Given the description of an element on the screen output the (x, y) to click on. 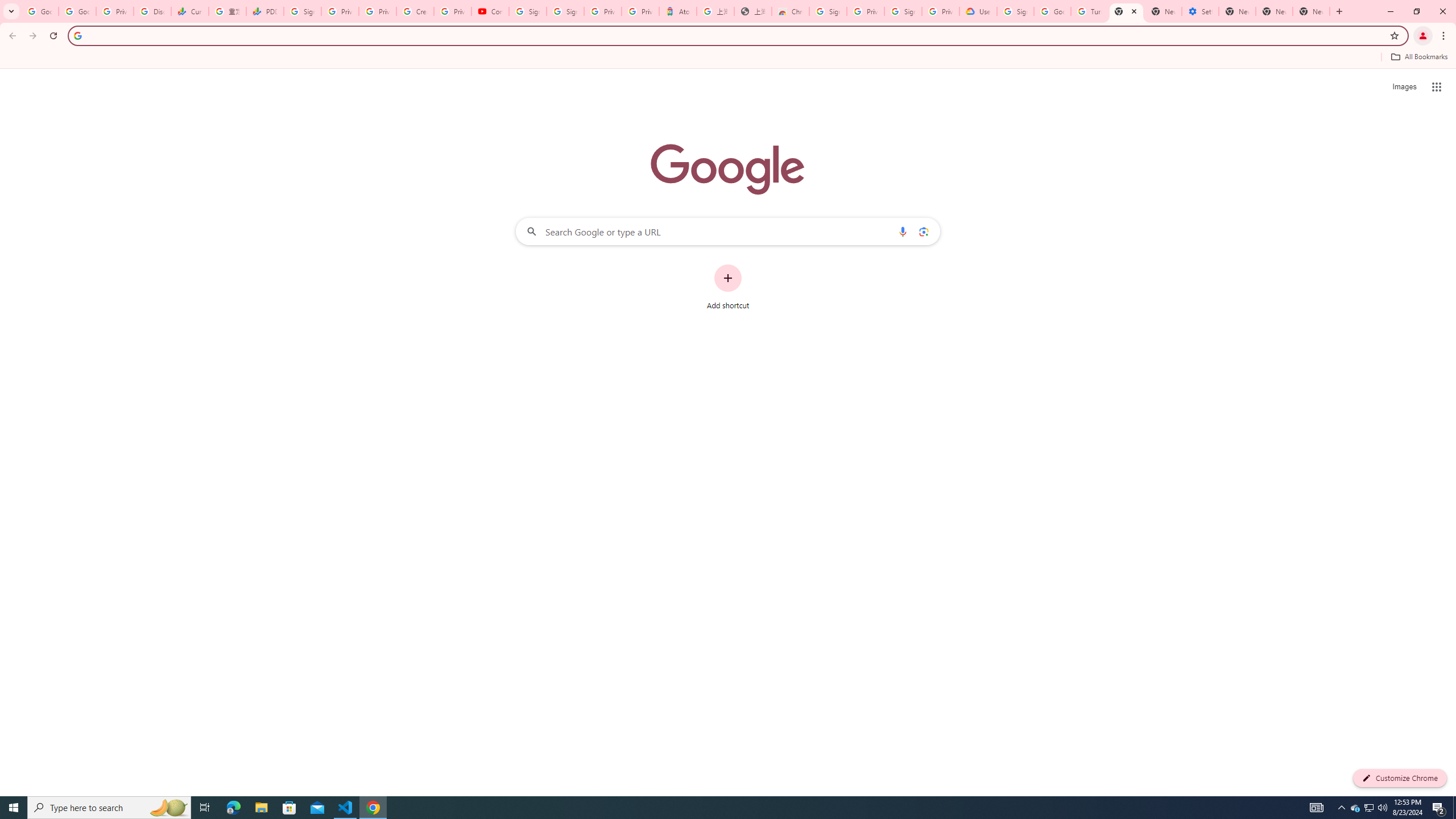
Currencies - Google Finance (189, 11)
Privacy Checkup (377, 11)
All Bookmarks (1418, 56)
Sign in - Google Accounts (1015, 11)
Search icon (77, 35)
